Given the description of an element on the screen output the (x, y) to click on. 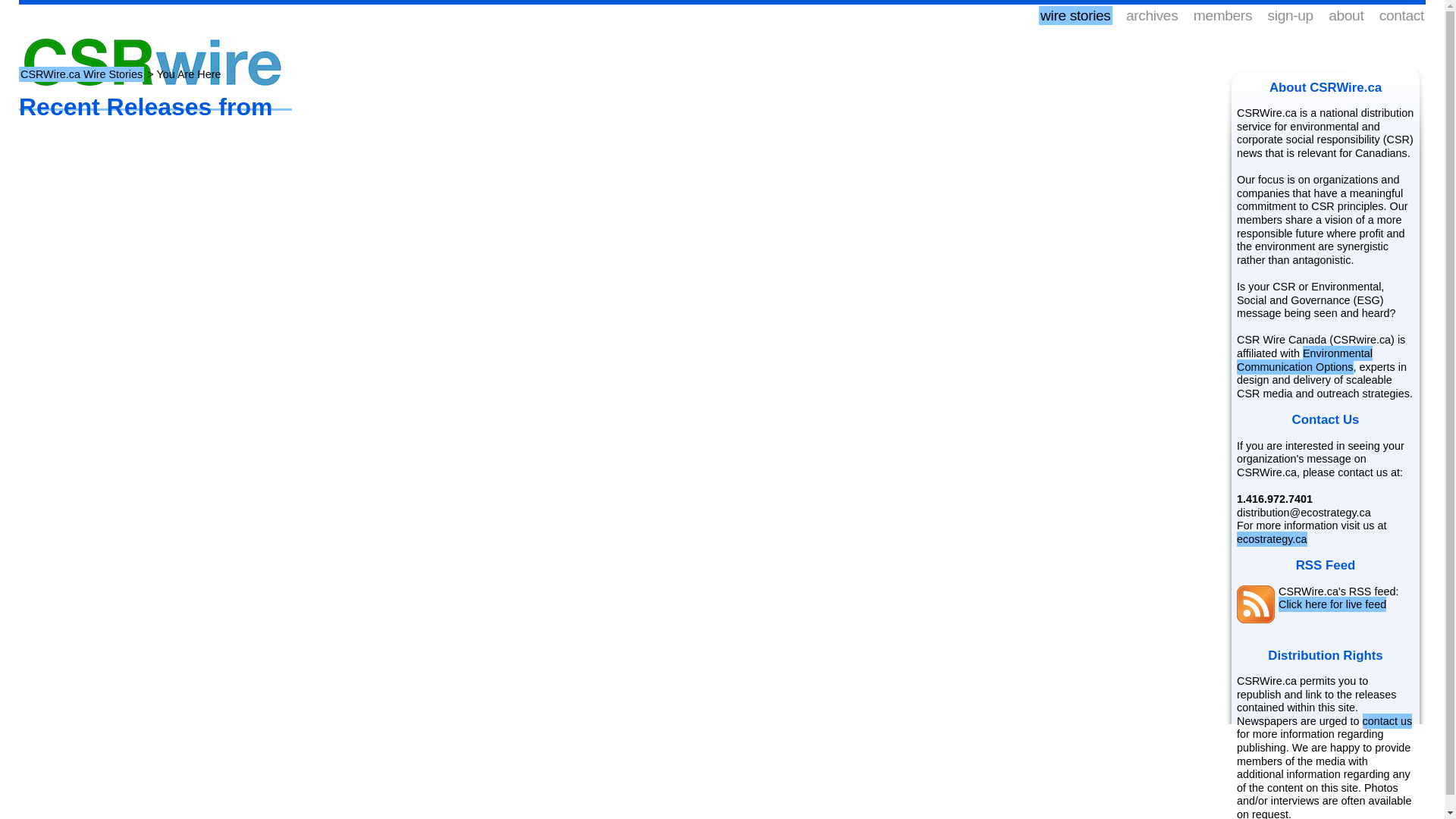
contact us (1387, 720)
members (1222, 15)
archives (1151, 15)
ecostrategy.ca (1271, 539)
Click here for live feed (1332, 604)
Environmental Communication Options (1304, 359)
wire stories (1075, 15)
contact (1401, 15)
sign-up (1290, 15)
about (1345, 15)
CSRWire.ca Wire Stories (81, 73)
